Given the description of an element on the screen output the (x, y) to click on. 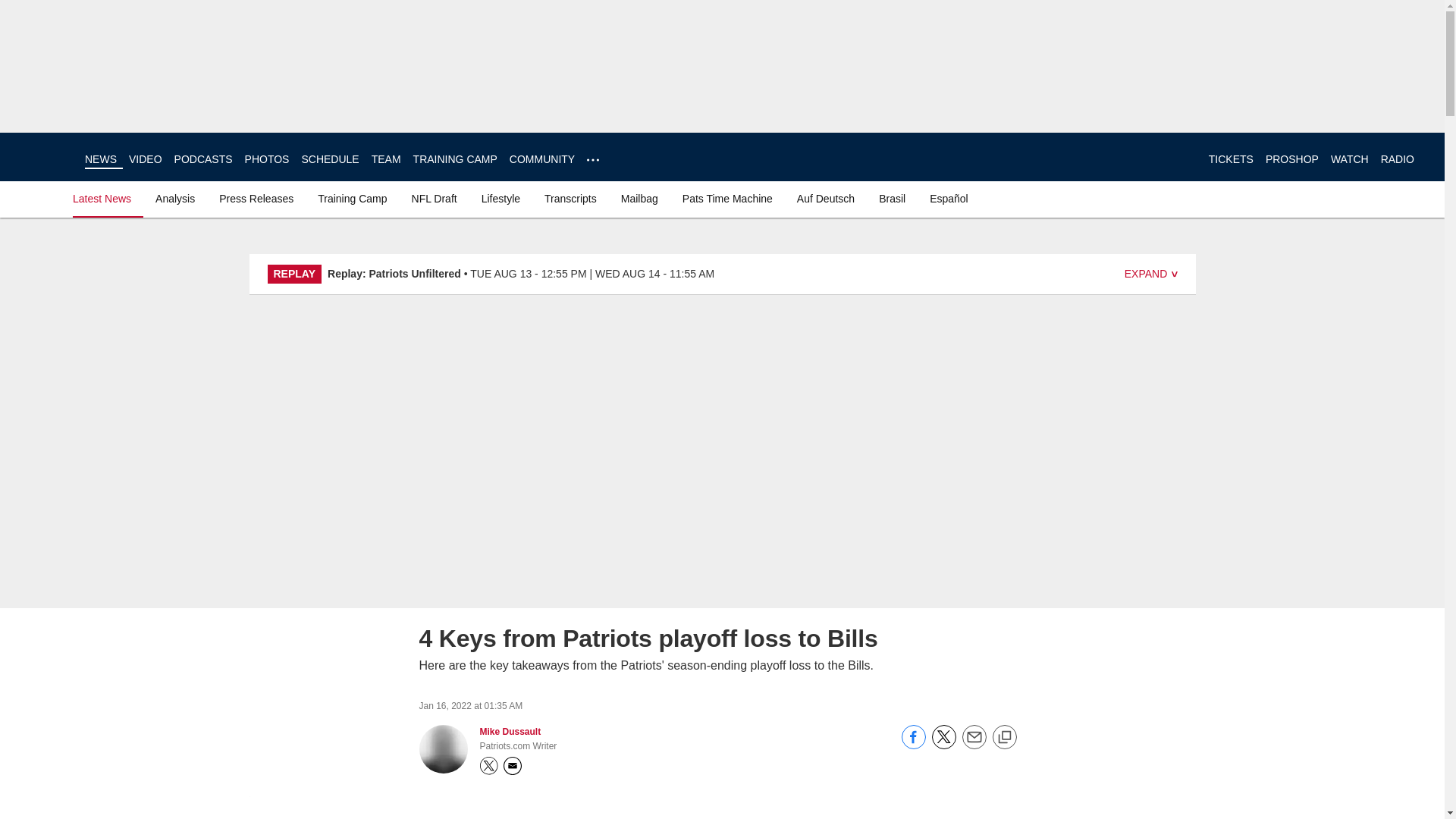
TEAM (386, 159)
PODCASTS (203, 159)
WATCH (1349, 159)
Brasil (891, 198)
PHOTOS (266, 159)
NFL Draft (434, 198)
Press Releases (255, 198)
TEAM (386, 159)
VIDEO (145, 159)
COMMUNITY (542, 159)
